Given the description of an element on the screen output the (x, y) to click on. 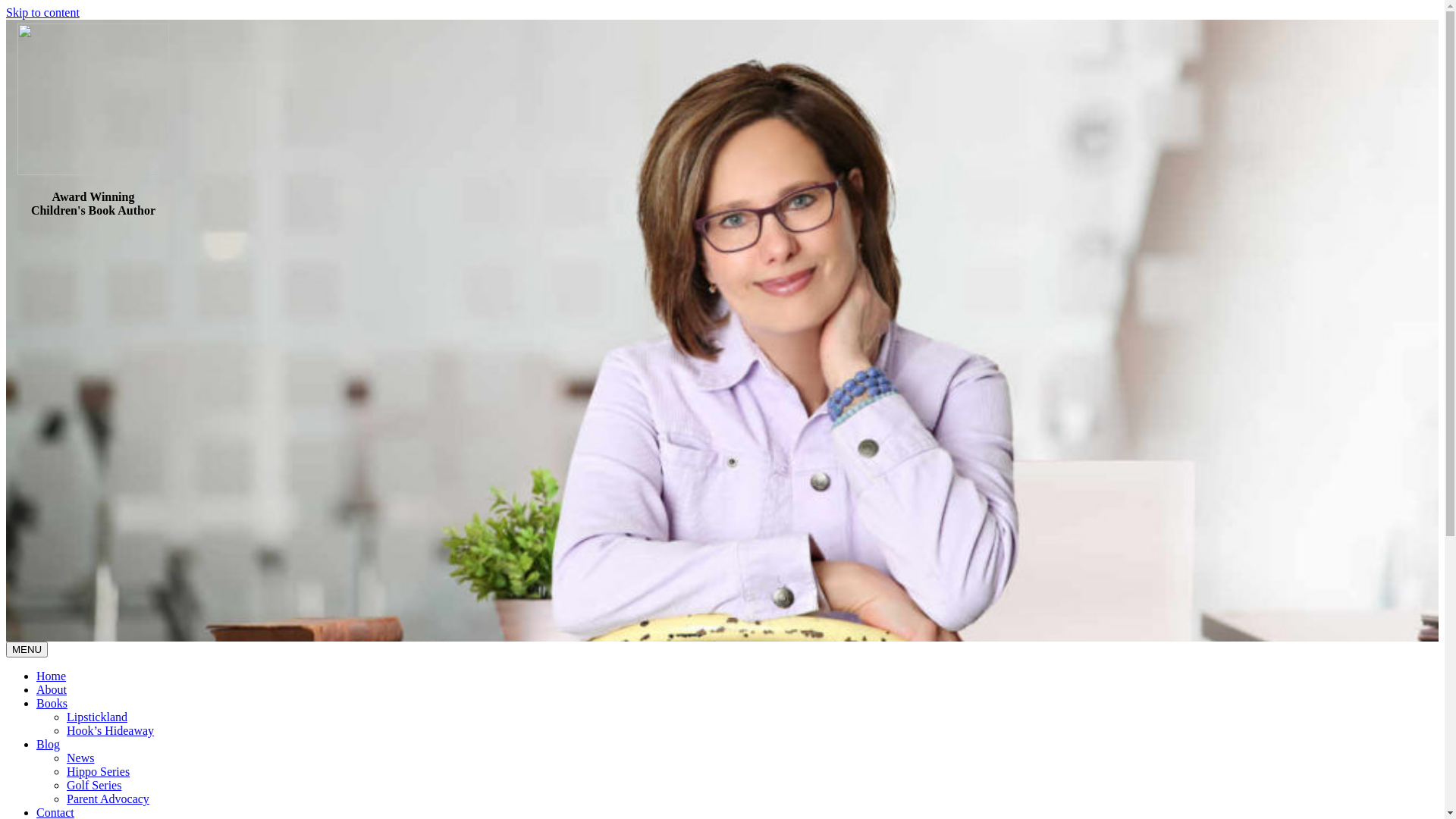
Books Element type: text (51, 702)
Lipstickland Element type: text (96, 716)
Parent Advocacy Element type: text (107, 798)
Skip to content Element type: text (42, 12)
MENU Element type: text (26, 649)
Blog Element type: text (47, 743)
Hippo Series Element type: text (97, 771)
Golf Series Element type: text (93, 784)
News Element type: text (80, 757)
Home Element type: text (50, 675)
About Element type: text (51, 689)
